Given the description of an element on the screen output the (x, y) to click on. 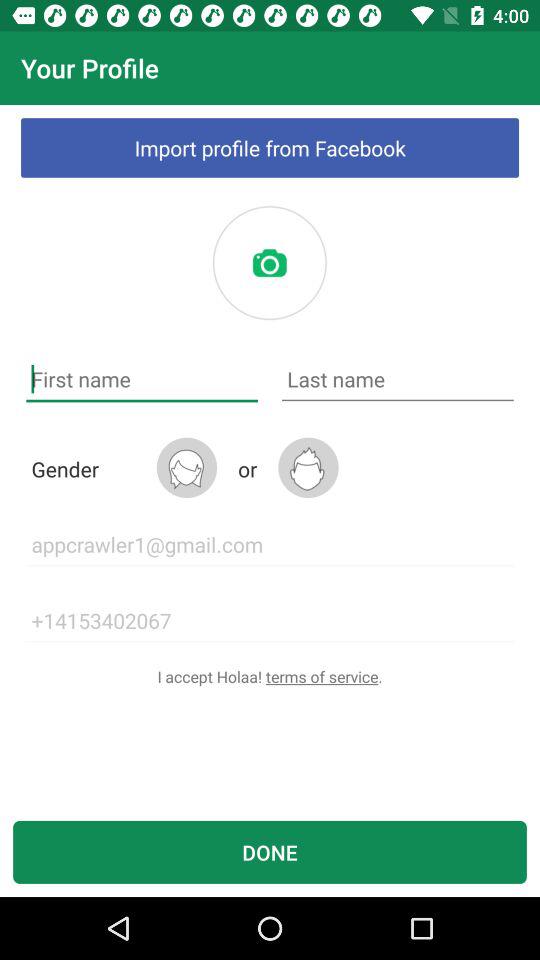
add picture (269, 263)
